Given the description of an element on the screen output the (x, y) to click on. 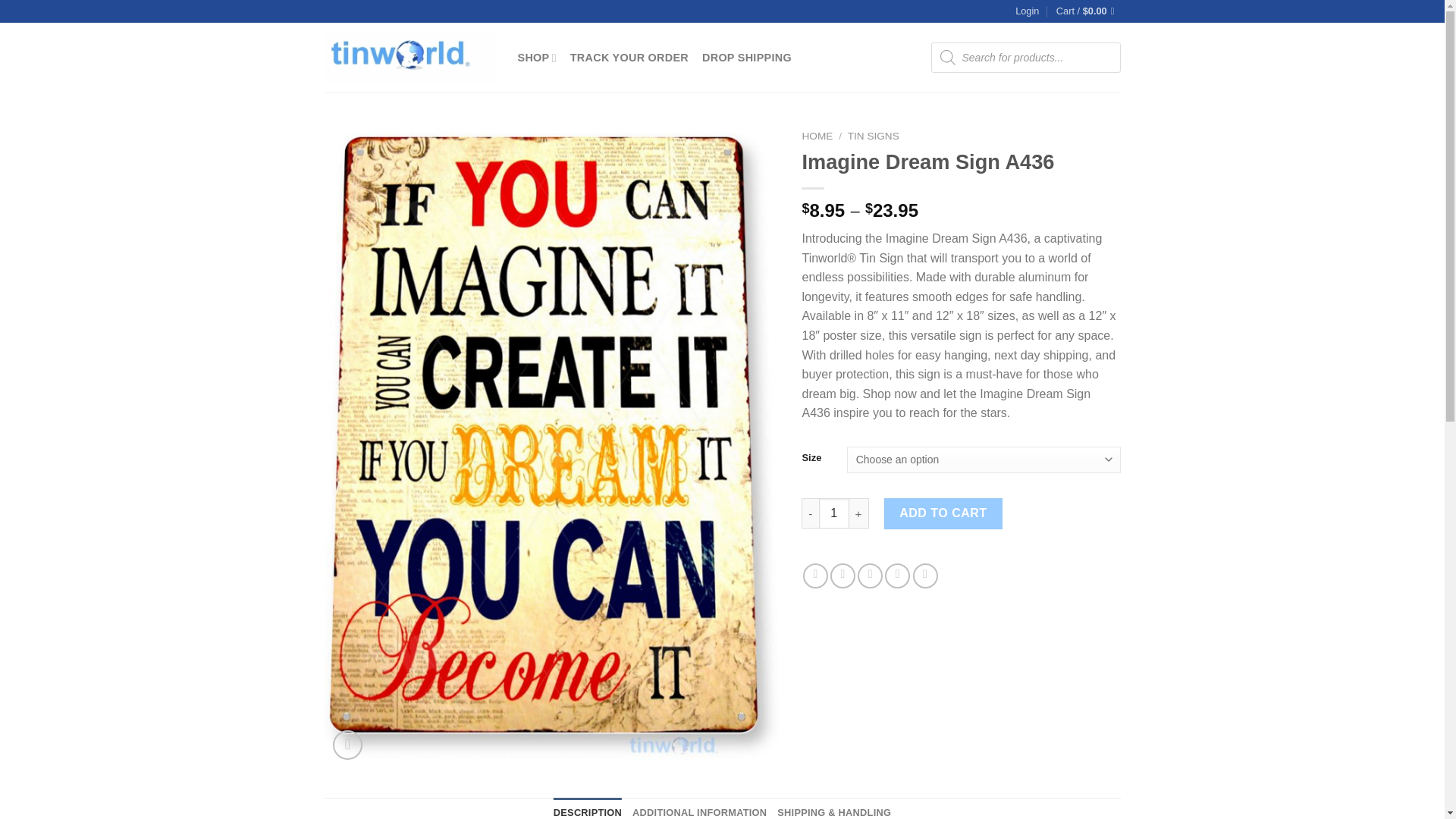
Share on Facebook (815, 575)
Share on Twitter (842, 575)
1 (833, 512)
Login (1026, 11)
Qty (833, 512)
SHOP (536, 57)
Cart (1089, 11)
DROP SHIPPING (746, 57)
Pin on Pinterest (897, 575)
TinWorld - Collectible signs at competitive prices (409, 57)
